Given the description of an element on the screen output the (x, y) to click on. 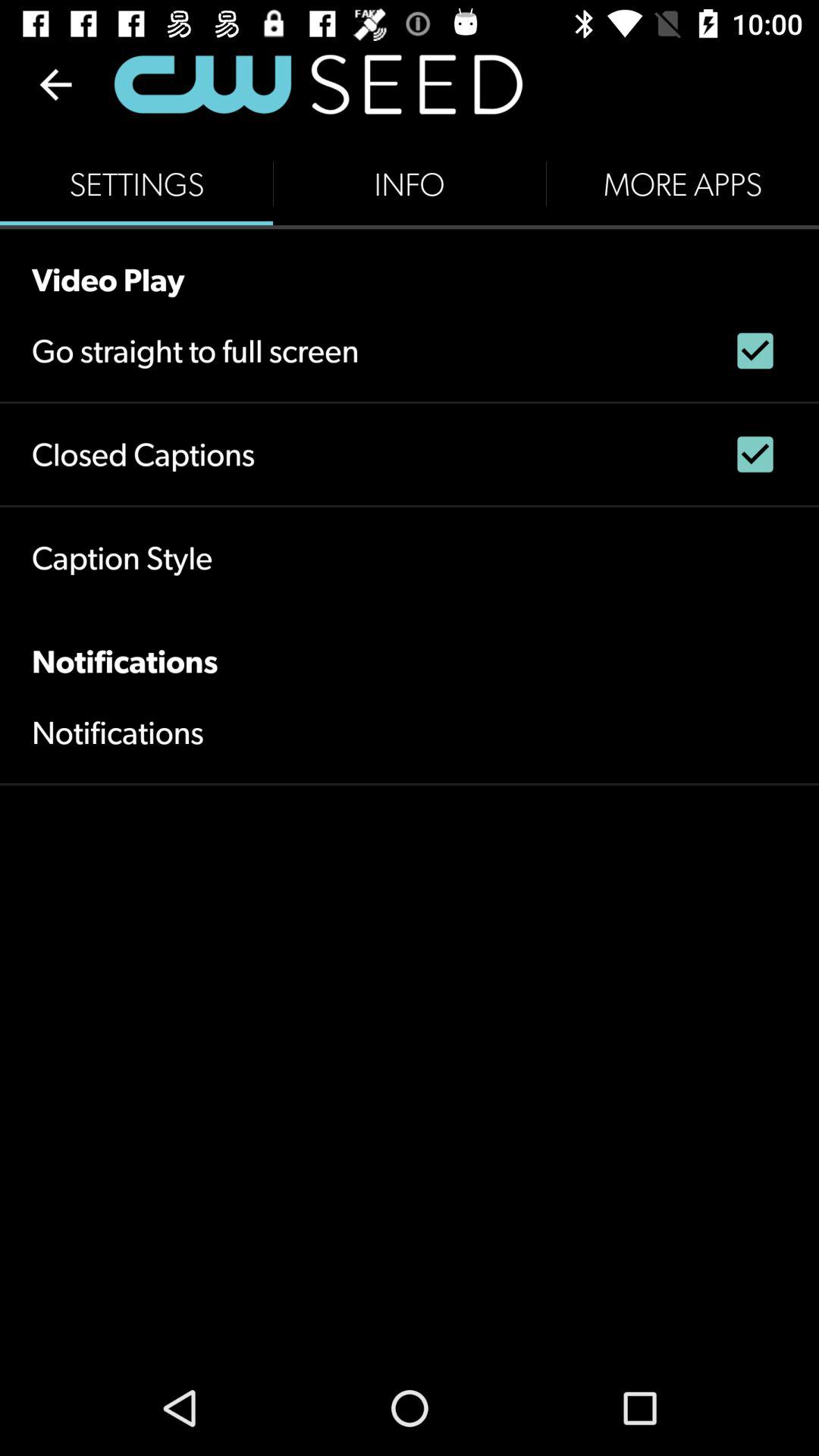
tap the item to the right of the info item (682, 184)
